Given the description of an element on the screen output the (x, y) to click on. 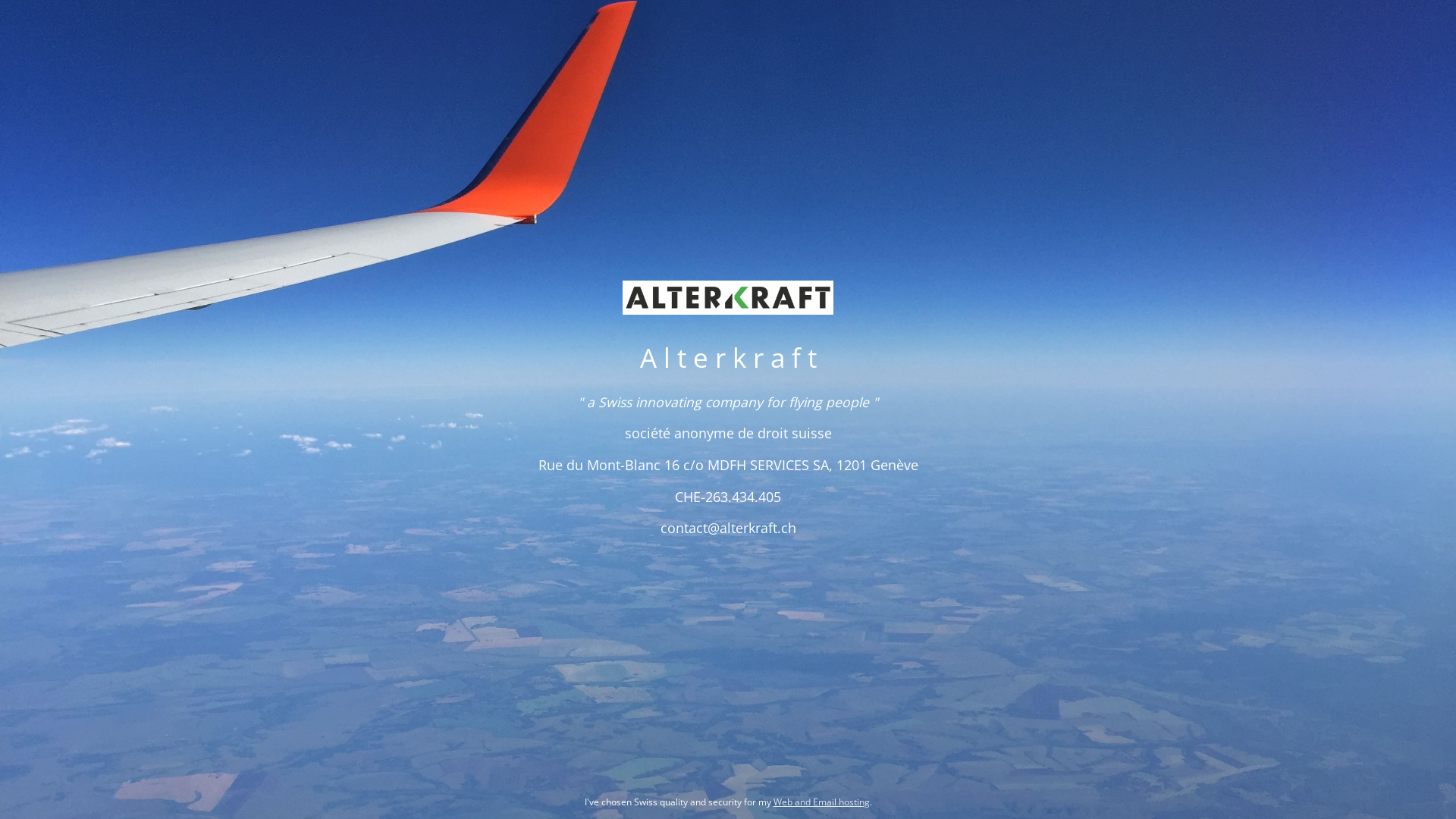
Web and Email hosting Element type: text (821, 801)
